Given the description of an element on the screen output the (x, y) to click on. 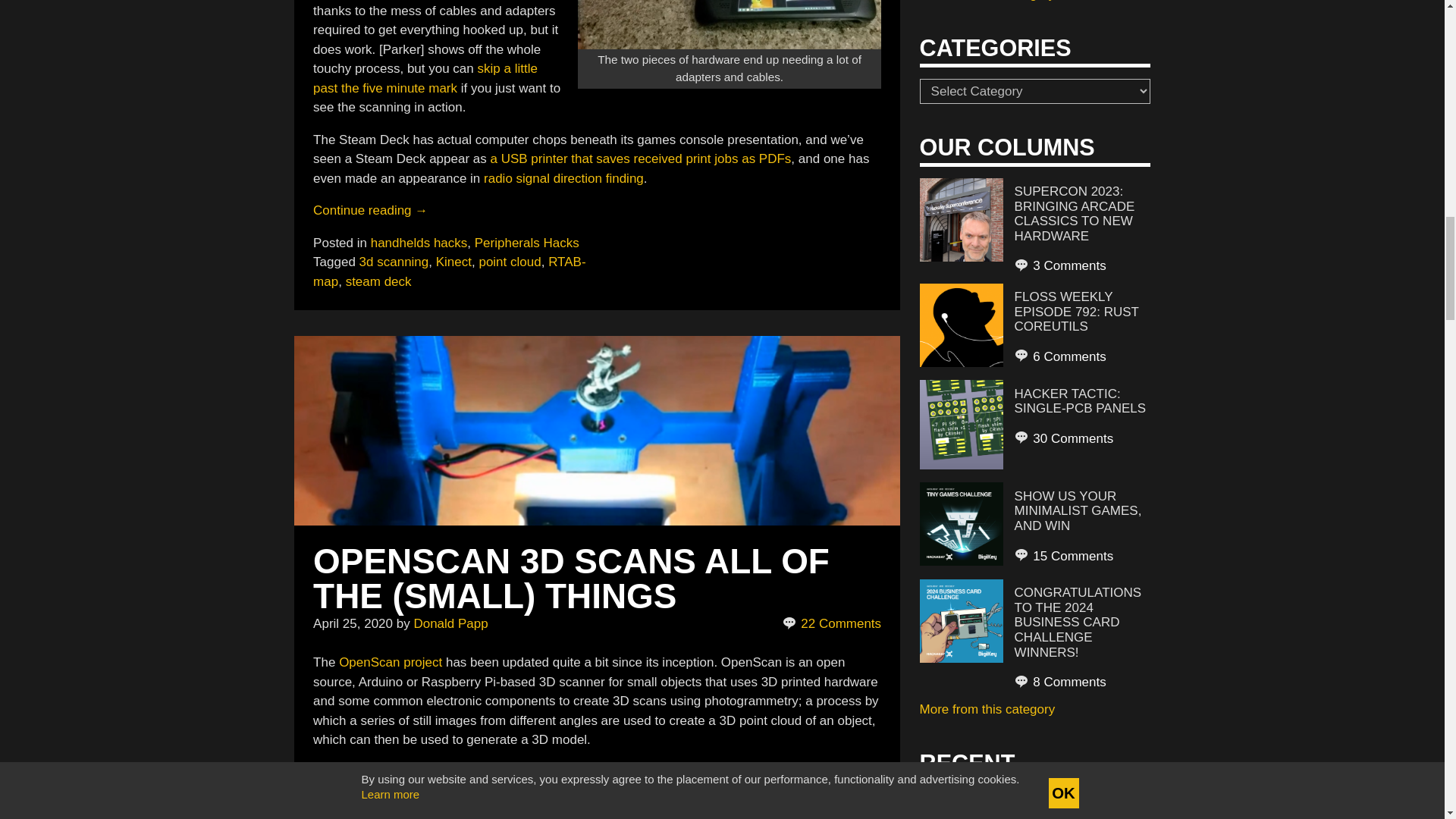
Posts by Donald Papp (450, 623)
April 25, 2020 - 10:00 am (353, 623)
